Given the description of an element on the screen output the (x, y) to click on. 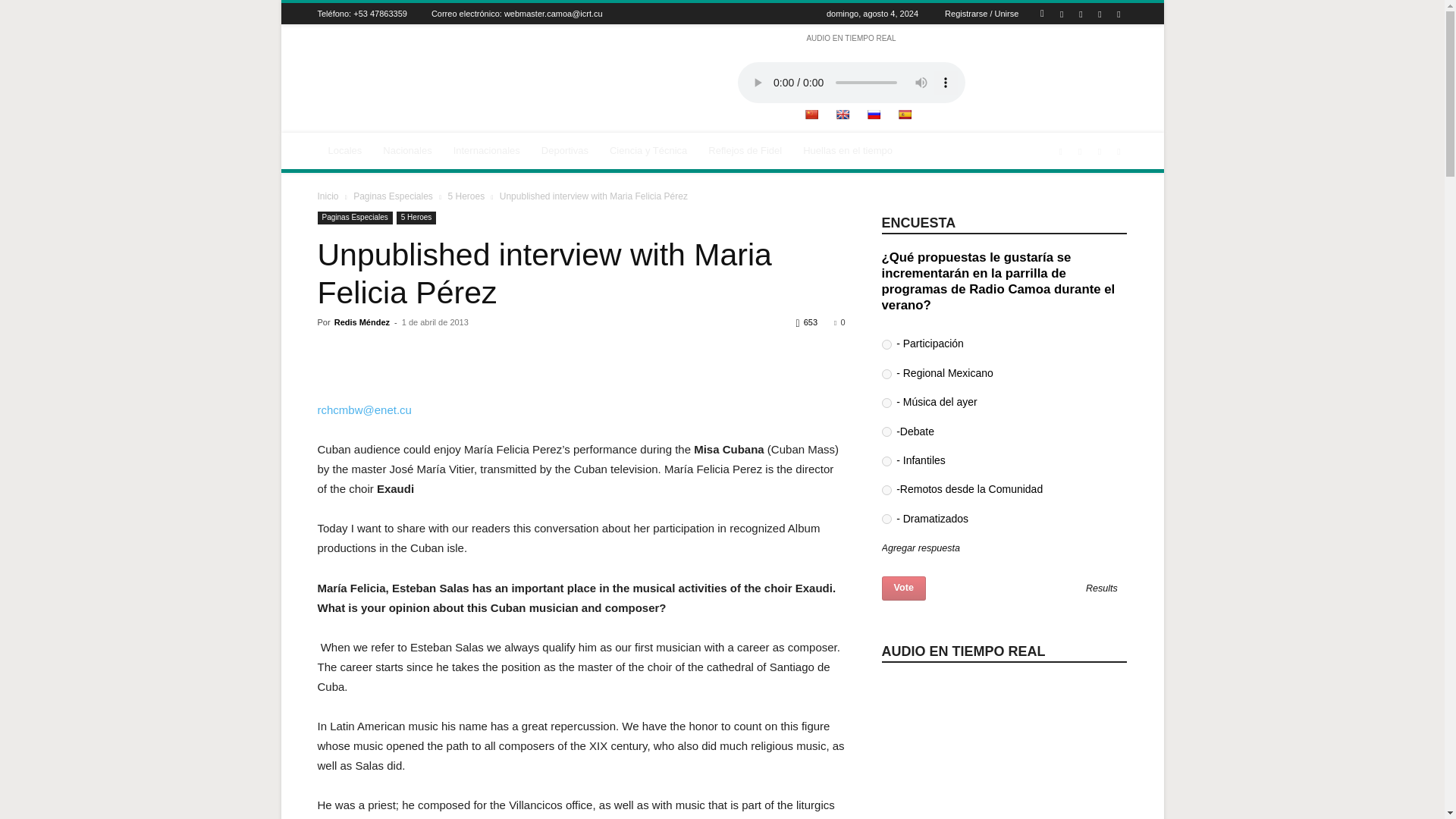
Internacionales (486, 150)
Vote (903, 588)
84 (885, 374)
89 (885, 431)
Russian (873, 114)
85 (885, 344)
86 (885, 402)
Buscar (1085, 67)
English (841, 114)
Ver todas las publicaciones en Paginas Especiales (392, 195)
